Given the description of an element on the screen output the (x, y) to click on. 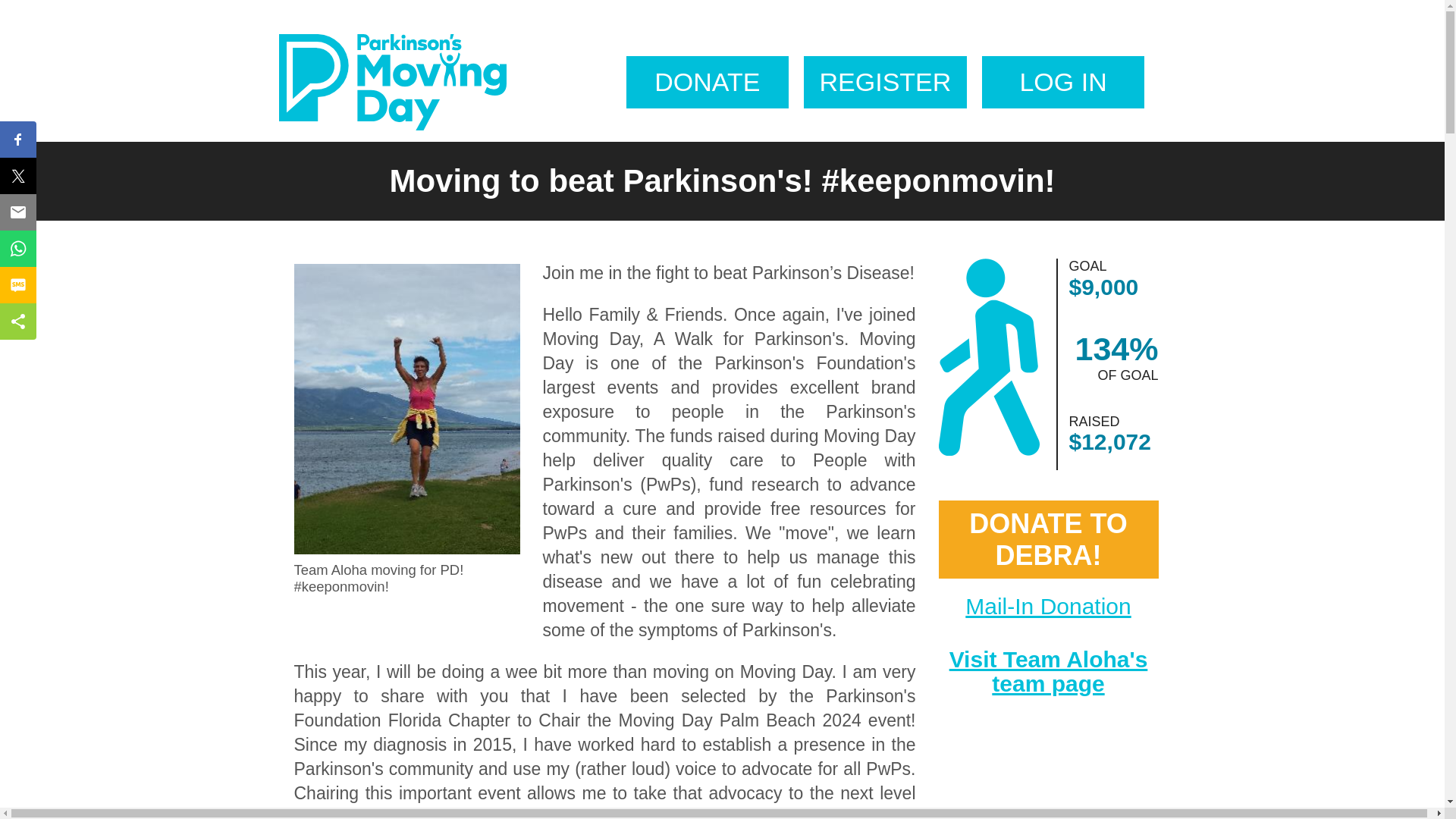
Give a gift to a participant or event (707, 82)
Log in to your Moving Day participant center (1062, 82)
Sign up to participate in a Moving Day event (884, 82)
